Given the description of an element on the screen output the (x, y) to click on. 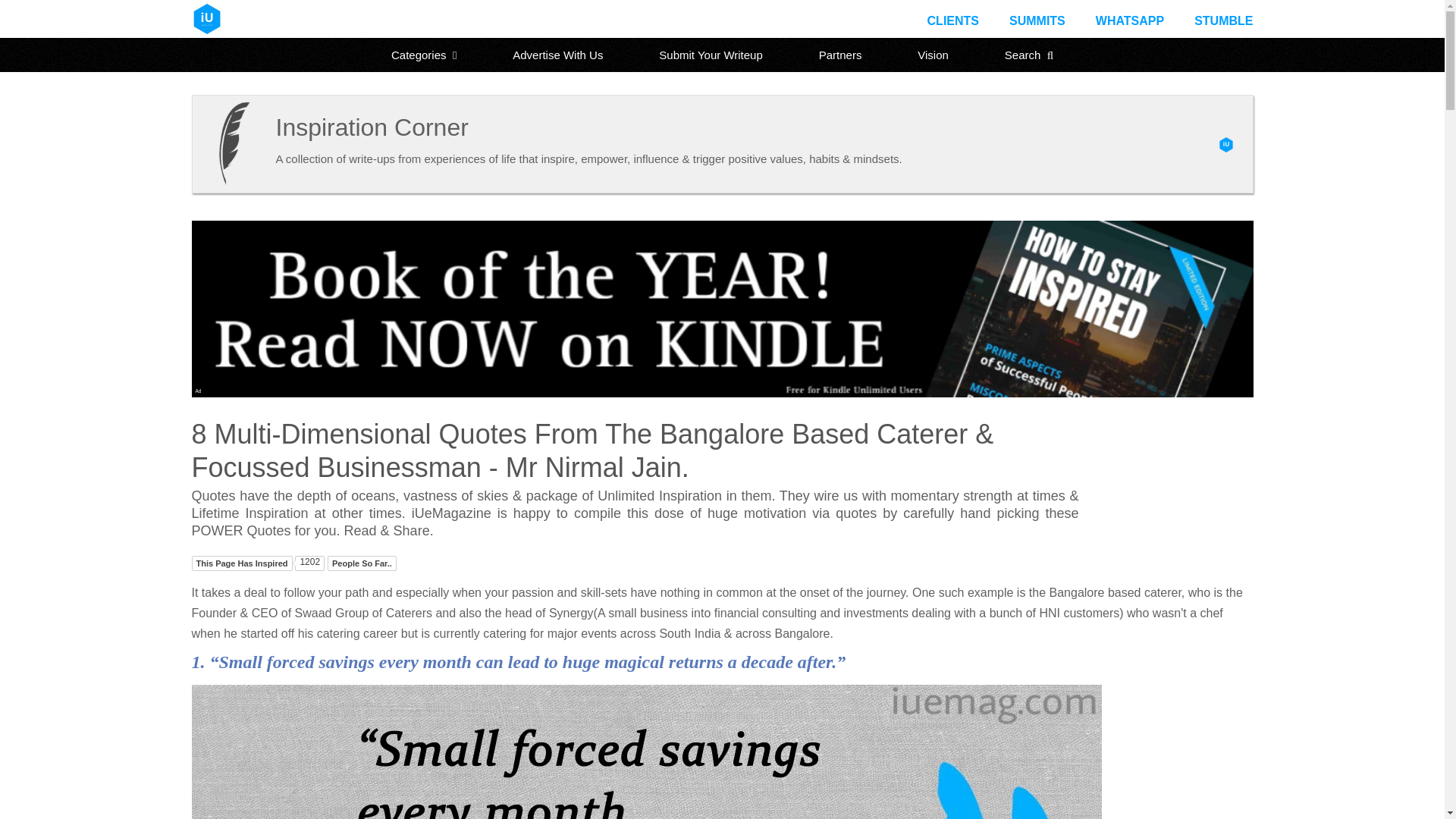
Submit Your Writeup (710, 55)
Categories   (424, 54)
CLIENTS (952, 20)
Search   (1029, 55)
STUMBLE (1222, 20)
WHATSAPP (1129, 20)
Advertise With Us (557, 55)
Partners (840, 55)
Vision (933, 55)
SUMMITS (1037, 20)
